Given the description of an element on the screen output the (x, y) to click on. 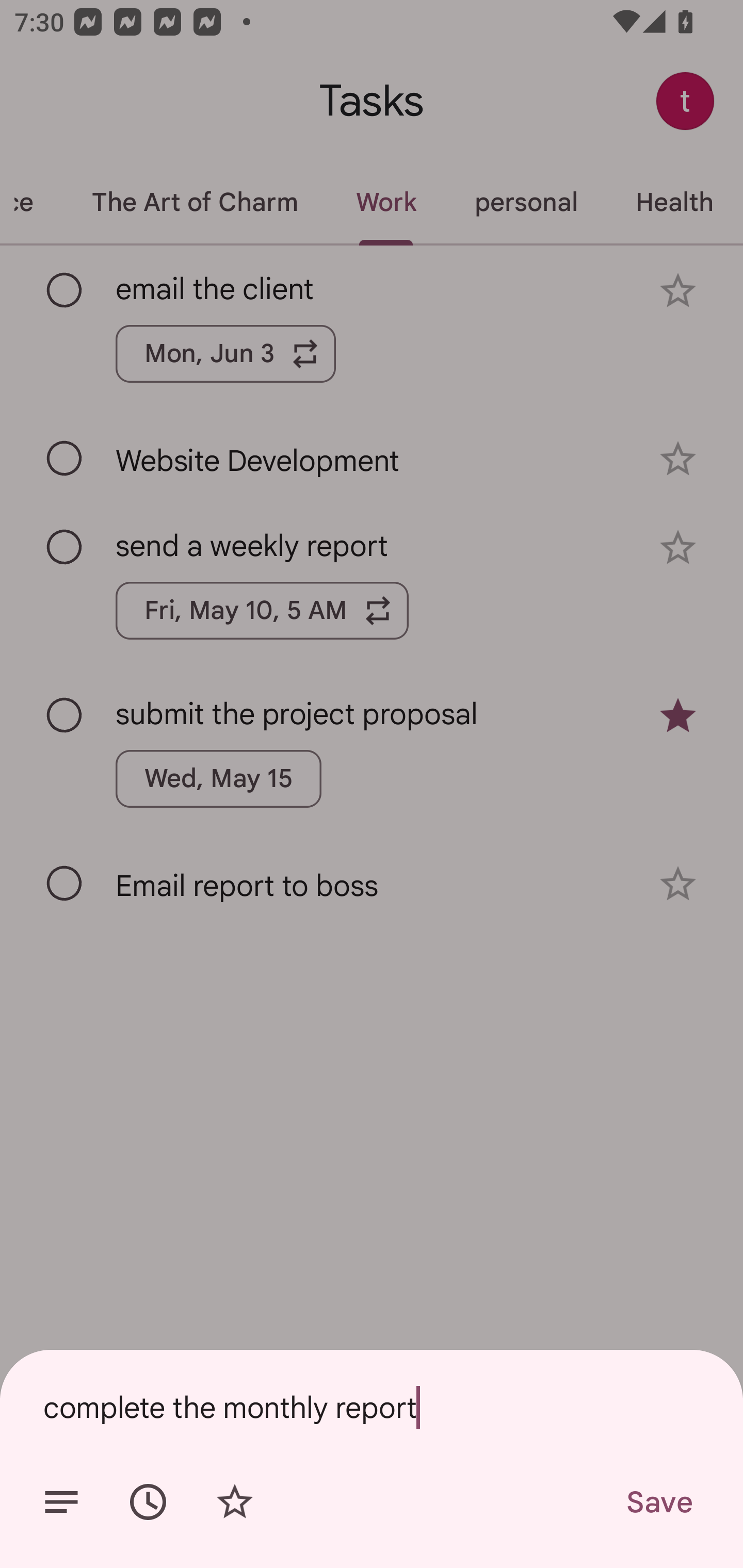
complete the monthly report (371, 1407)
Save (659, 1501)
Add details (60, 1501)
Set date/time (147, 1501)
Add star (234, 1501)
